Given the description of an element on the screen output the (x, y) to click on. 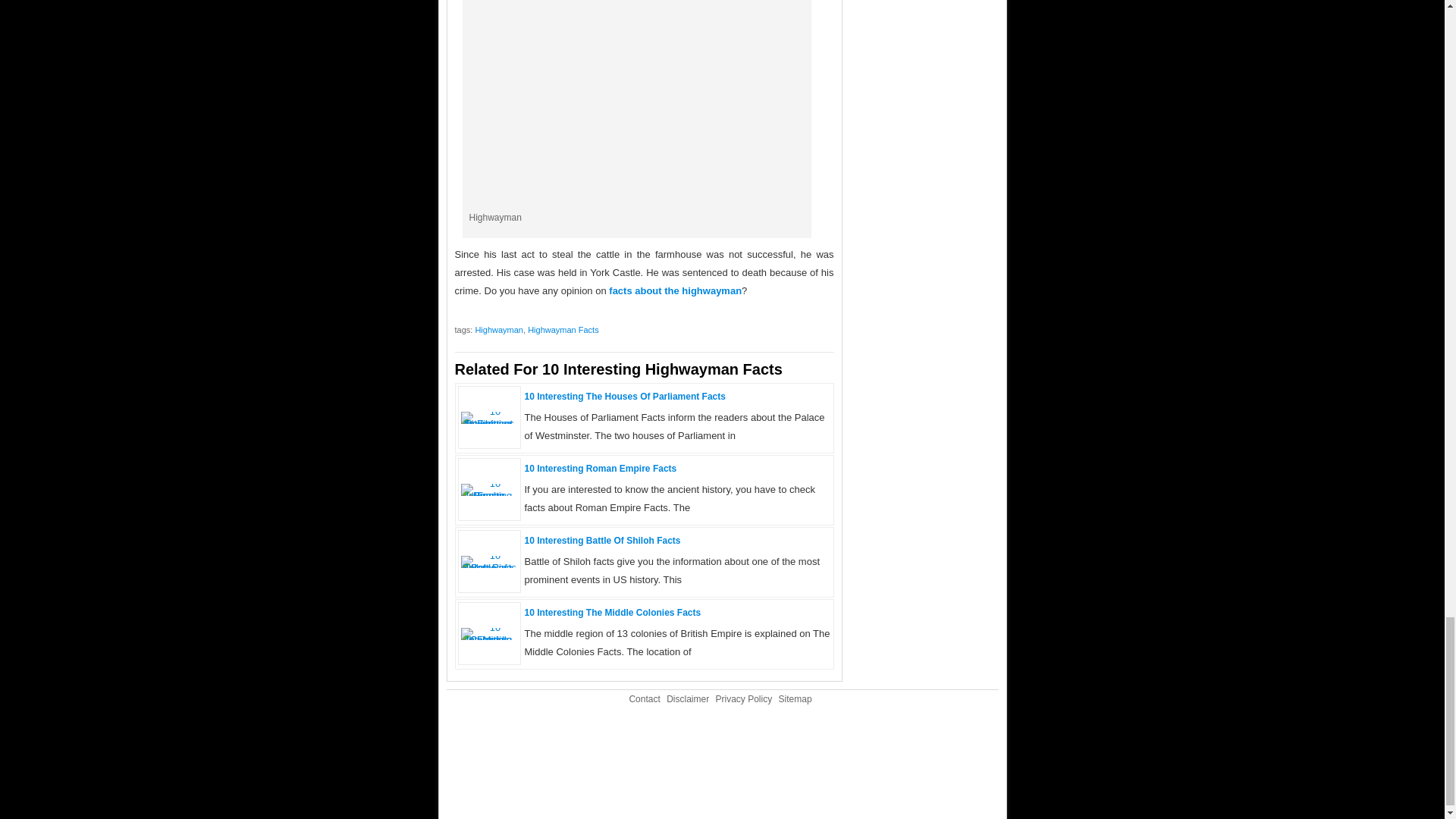
Highwayman (498, 329)
10 Interesting Battle of Shiloh Facts (602, 540)
10 Interesting Roman Empire Facts (489, 495)
Highwayman Facts (562, 329)
10 Interesting The Houses Of Parliament Facts (624, 396)
facts about the highwayman (674, 290)
10 Interesting Roman Empire Facts (600, 468)
10 Interesting the Middle Colonies Facts (489, 639)
10 Interesting The Middle Colonies Facts (612, 612)
10 Interesting Battle of Shiloh Facts (489, 567)
